Given the description of an element on the screen output the (x, y) to click on. 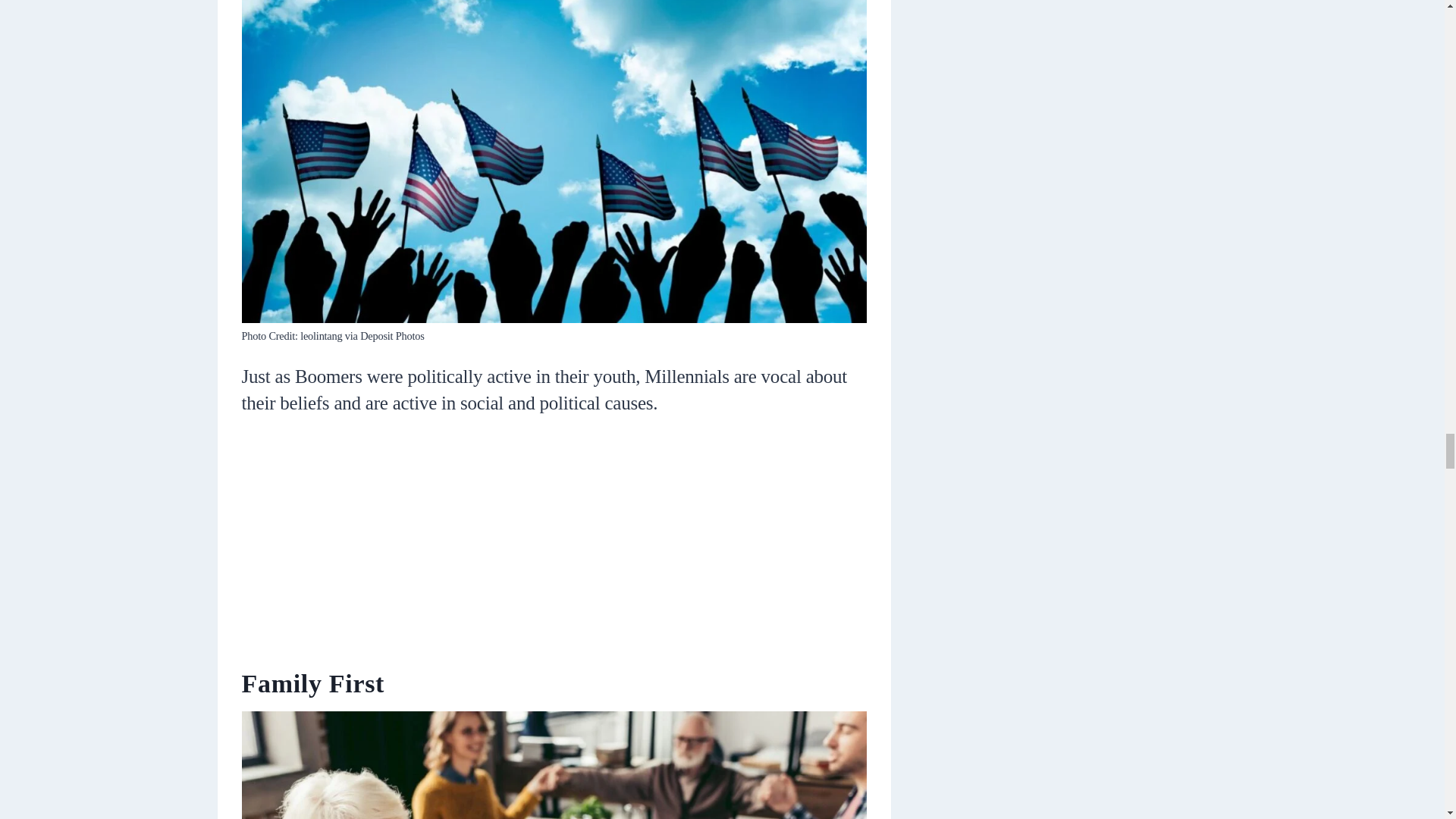
18 Reasons Why Millennials Just Might Be the New Boomers 14 (554, 765)
